Given the description of an element on the screen output the (x, y) to click on. 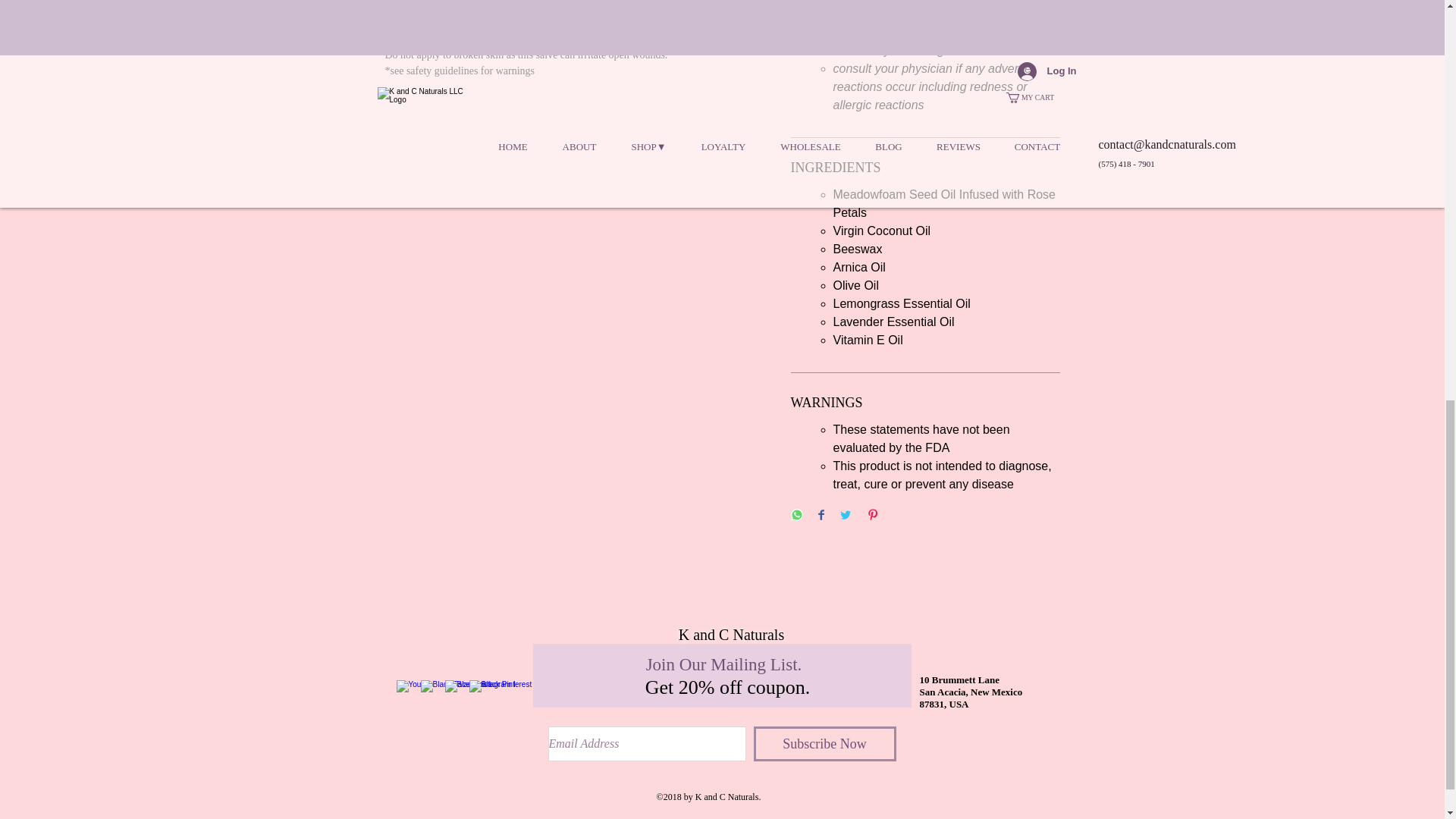
Subscribe Now (825, 743)
